Given the description of an element on the screen output the (x, y) to click on. 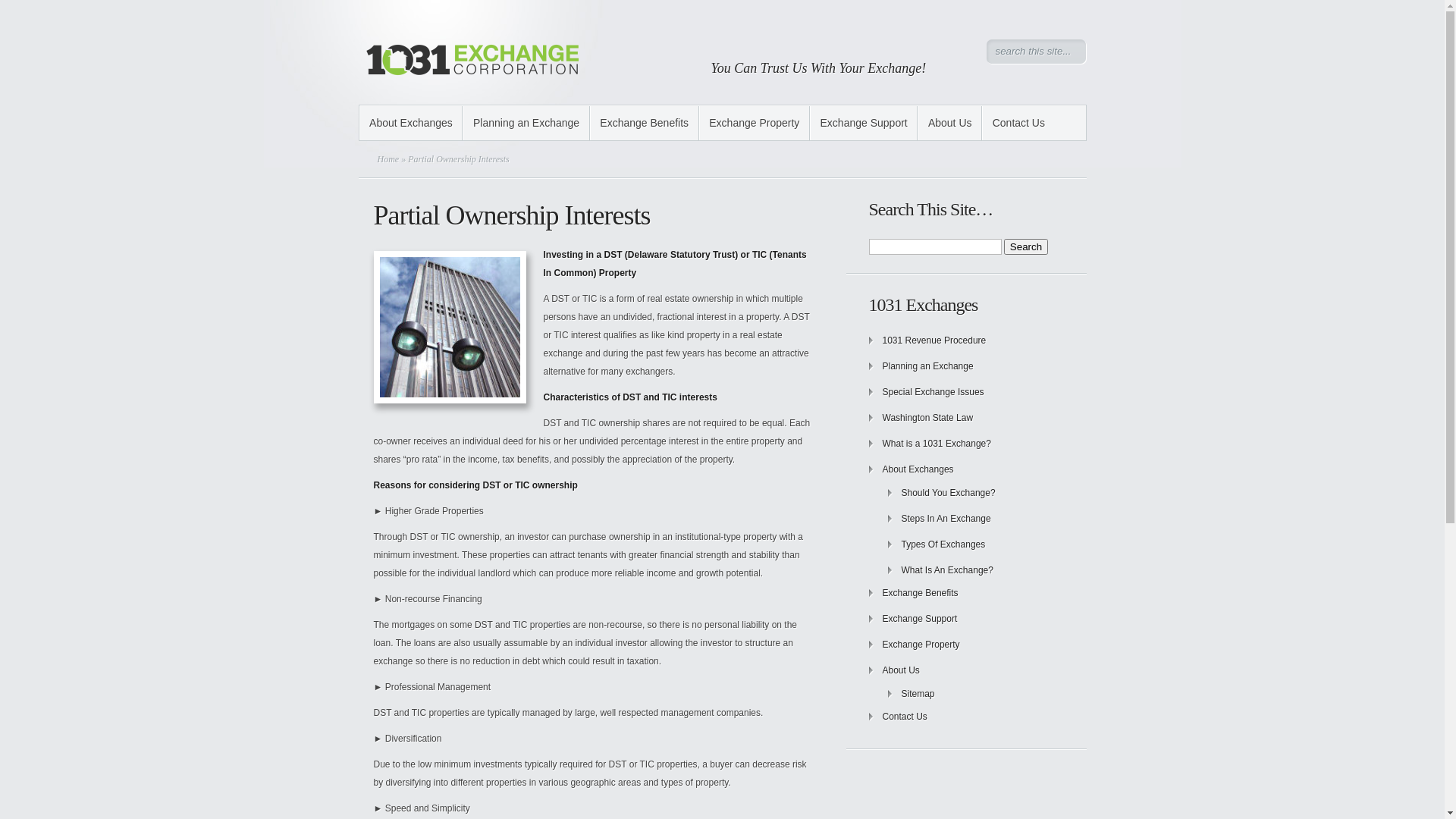
About Us Element type: text (900, 670)
What Is An Exchange? Element type: text (946, 569)
Contact Us Element type: text (904, 716)
Types Of Exchanges Element type: text (942, 544)
Special Exchange Issues Element type: text (933, 391)
About Exchanges Element type: text (917, 469)
Home Element type: text (388, 158)
Exchange Support Element type: text (863, 123)
Planning an Exchange Element type: text (525, 123)
Exchange Support Element type: text (919, 618)
About Us Element type: text (949, 123)
Search Element type: text (1026, 246)
Exchange Property Element type: text (921, 644)
Exchange Benefits Element type: text (644, 123)
Exchange Benefits Element type: text (920, 592)
Washington State Law Element type: text (927, 417)
Planning an Exchange Element type: text (927, 365)
About Exchanges Element type: text (410, 123)
Sitemap Element type: text (917, 693)
What is a 1031 Exchange? Element type: text (936, 443)
1031 Revenue Procedure Element type: text (934, 340)
Steps In An Exchange Element type: text (945, 518)
Contact Us Element type: text (1018, 123)
Exchange Property Element type: text (754, 123)
Should You Exchange? Element type: text (947, 492)
